Given the description of an element on the screen output the (x, y) to click on. 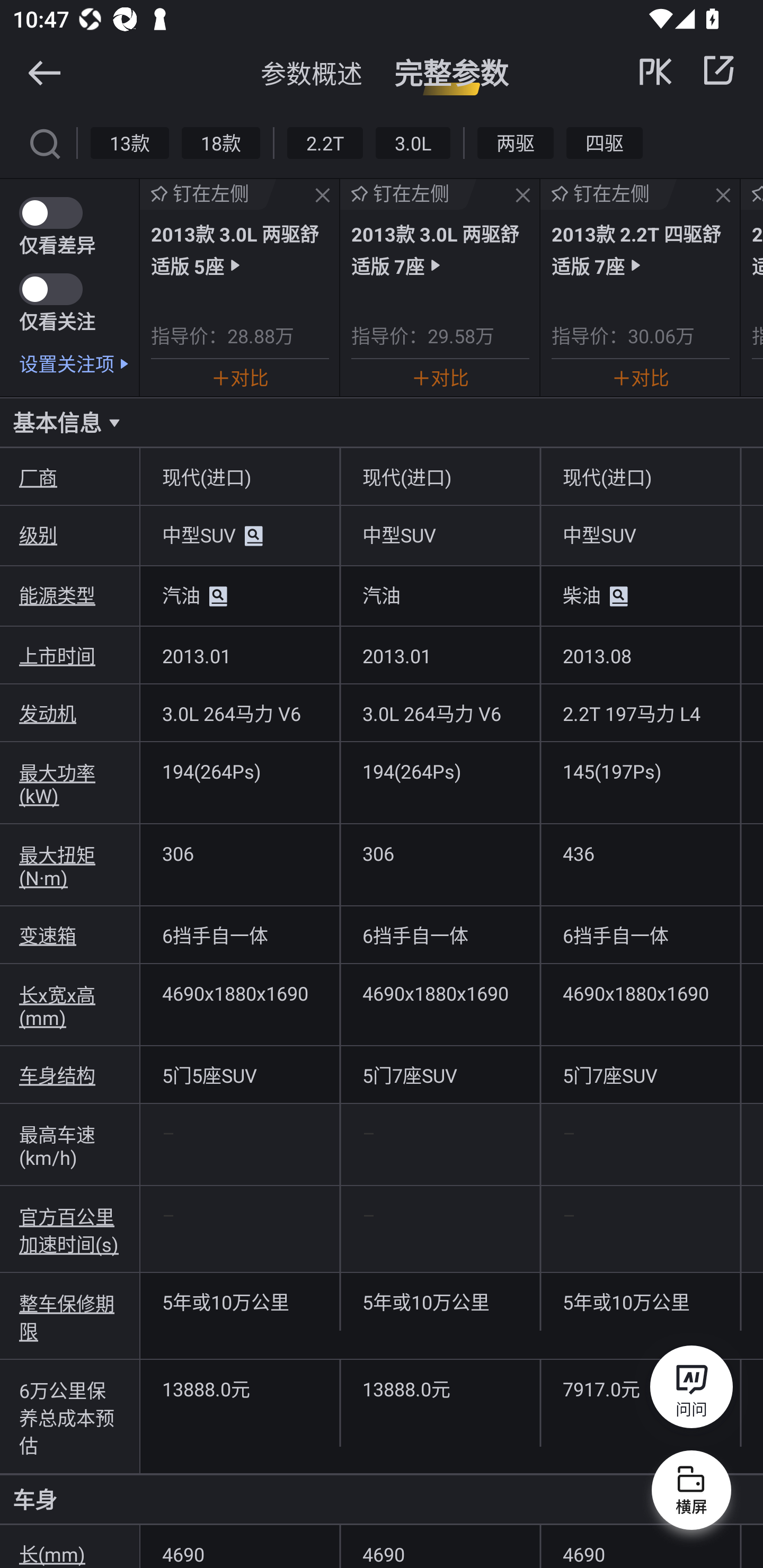
  (688, 70)
参数概述 (311, 72)
 (718, 70)
 (44, 71)
 (44, 142)
13款 (129, 142)
18款 (220, 142)
2.2T (324, 142)
3.0L (412, 142)
两驱 (515, 142)
四驱 (604, 142)
 钉在左侧 (207, 194)
 (322, 195)
 钉在左侧 (408, 194)
 (522, 195)
 钉在左侧 (608, 194)
 (722, 195)
2013款 3.0L 两驱舒适版 5座  (239, 249)
2013款 3.0L 两驱舒适版 7座  (439, 249)
2013款 2.2T 四驱舒适版 7座  (640, 249)
设置关注项  (79, 363)
对比 (239, 377)
对比 (440, 377)
对比 (640, 377)
基本信息  (381, 422)
厂商 现代(进口) 现代(进口) 现代(进口) (381, 477)
厂商 (69, 477)
现代(进口) (239, 477)
现代(进口) (440, 477)
现代(进口) (640, 477)
级别 (69, 534)
中型SUV< ><img> (239, 536)
中型SUV (440, 534)
中型SUV (640, 534)
能源类型 (69, 595)
汽油< ><img> (239, 596)
汽油 (440, 595)
柴油< ><img> (640, 596)
上市时间 (69, 655)
2013.01 (239, 655)
2013.01 (440, 655)
2013.08 (640, 655)
发动机 (69, 712)
3.0L 264马力 V6 (239, 712)
3.0L 264马力 V6 (440, 712)
2.2T 197马力 L4 (640, 712)
最大功率(kW) (69, 782)
194(264Ps) (239, 770)
194(264Ps) (440, 770)
145(197Ps) (640, 770)
最大扭矩(N·m) (69, 865)
306 (239, 852)
306 (440, 852)
436 (640, 852)
变速箱 (69, 935)
6挡手自一体 (239, 935)
6挡手自一体 (440, 935)
6挡手自一体 (640, 935)
长x宽x高(mm) (69, 1004)
4690x1880x1690 (239, 993)
4690x1880x1690 (440, 993)
4690x1880x1690 (640, 993)
车身结构 (69, 1074)
5门5座SUV (239, 1074)
5门7座SUV (440, 1074)
5门7座SUV (640, 1074)
最高车速(km/h) (69, 1144)
官方百公里加速时间(s) (69, 1229)
整车保修期限 (69, 1316)
5年或10万公里 (239, 1302)
5年或10万公里 (440, 1302)
5年或10万公里 (640, 1302)
 问问 (691, 1389)
6万公里保养总成本预估 (69, 1416)
13888.0元 (239, 1388)
13888.0元 (440, 1388)
7917.0元 (640, 1388)
长(mm) (69, 1546)
4690 (239, 1546)
4690 (440, 1546)
4690 (640, 1546)
